Given the description of an element on the screen output the (x, y) to click on. 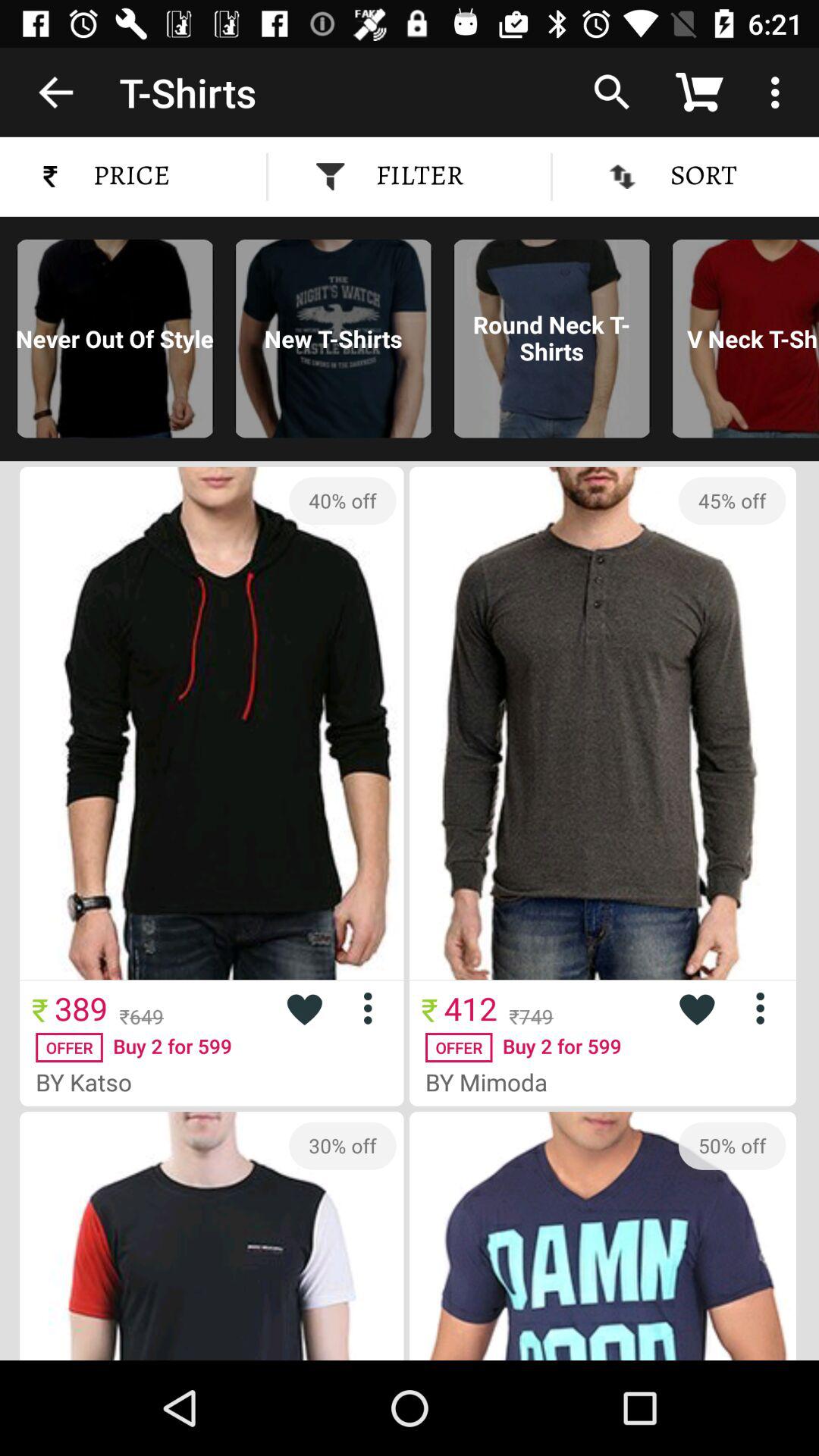
tap item to the left of t-shirts icon (55, 92)
